Given the description of an element on the screen output the (x, y) to click on. 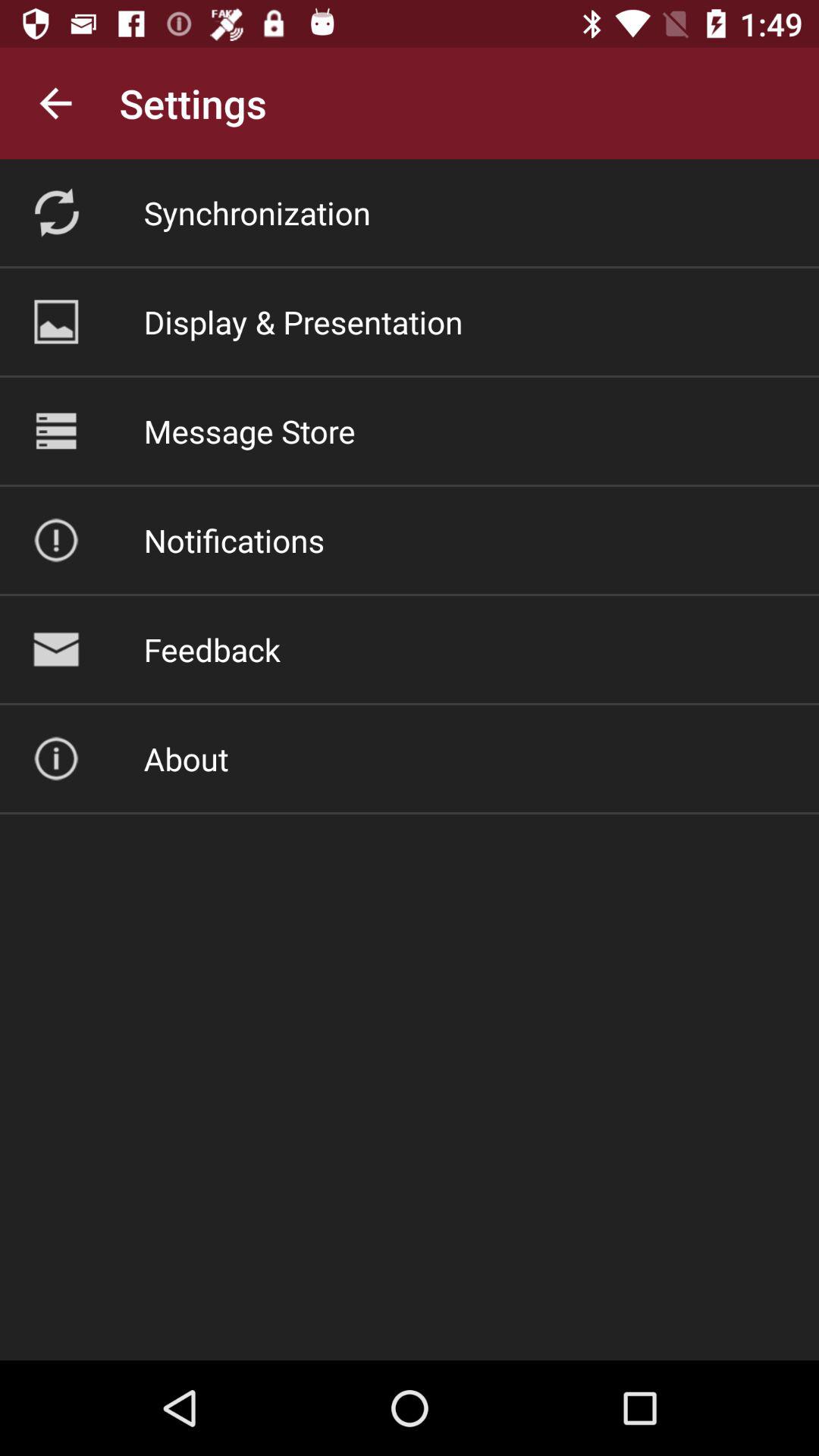
open the icon above the about icon (211, 649)
